Given the description of an element on the screen output the (x, y) to click on. 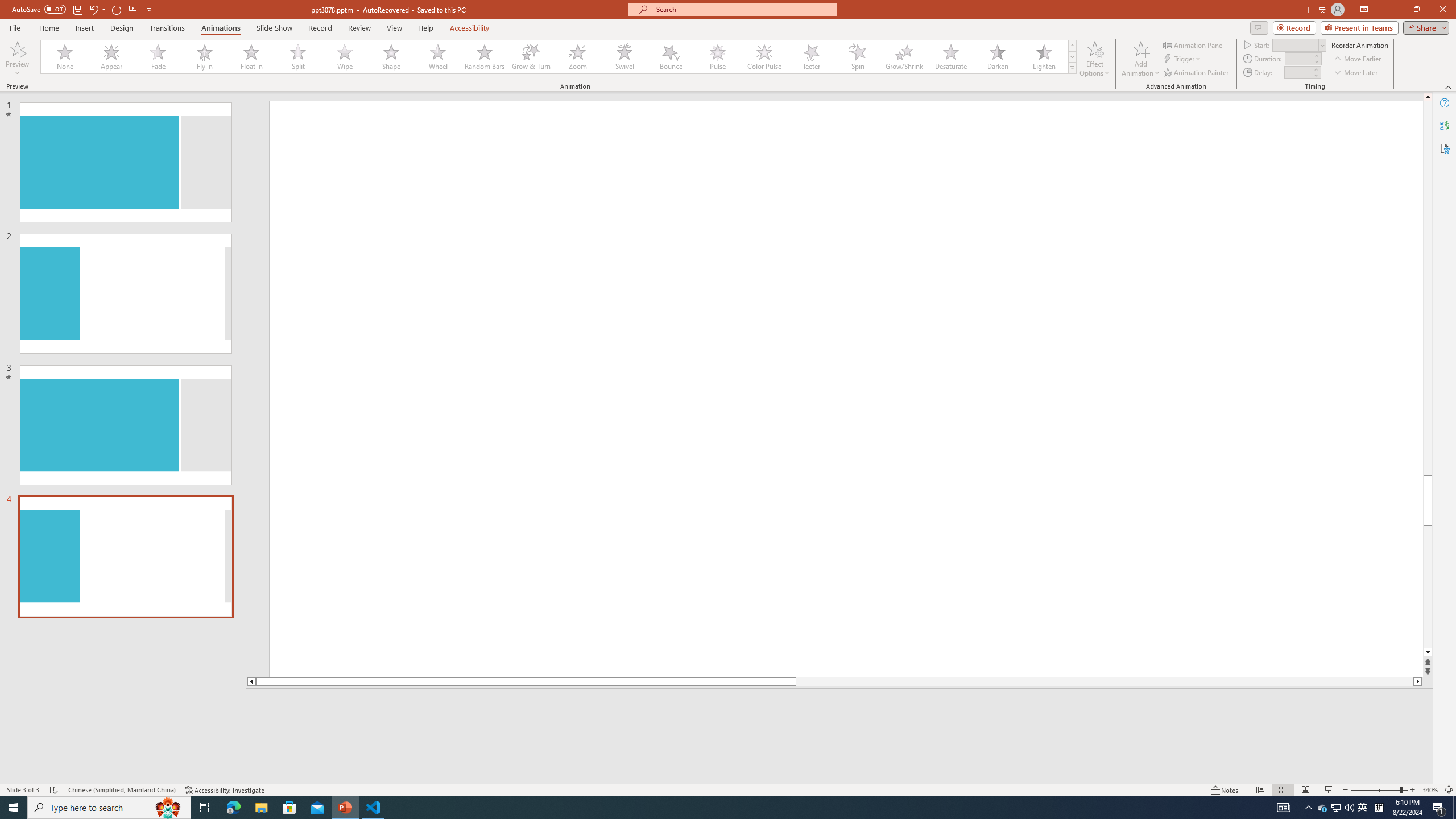
Lighten (1043, 56)
Appear (111, 56)
Move Later (1355, 72)
Fade (158, 56)
Split (298, 56)
Teeter (810, 56)
None (65, 56)
Random Bars (484, 56)
